Given the description of an element on the screen output the (x, y) to click on. 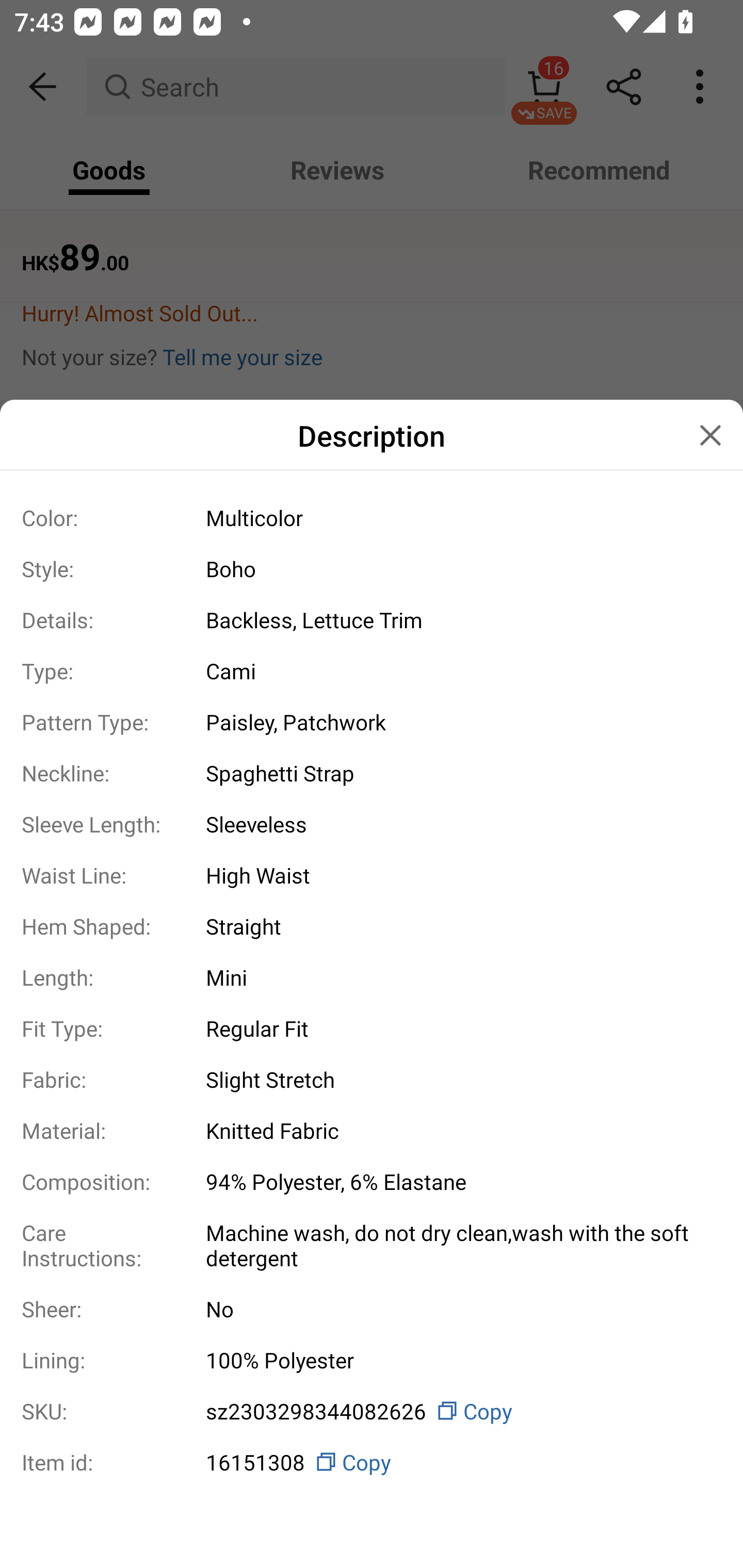
Close (710, 435)
Color: Multicolor (371, 517)
Multicolor (455, 517)
Style: Boho (371, 568)
Boho (455, 568)
Details: Backless, Lettuce Trim (371, 620)
Backless, Lettuce Trim (455, 620)
Type: Cami (371, 671)
Cami (455, 670)
Pattern Type: Paisley, Patchwork (371, 721)
Paisley, Patchwork (455, 721)
Neckline: Spaghetti Strap (371, 772)
Spaghetti Strap (455, 772)
Sleeve Length: Sleeveless (371, 823)
Sleeveless (455, 823)
Waist Line: High Waist (371, 874)
High Waist (455, 874)
Hem Shaped: Straight (371, 925)
Straight (455, 925)
Length: Mini (371, 976)
Mini (455, 977)
Fit Type: Regular Fit (371, 1027)
Regular Fit (455, 1027)
Fabric: Slight Stretch (371, 1079)
Slight Stretch (455, 1079)
Material: Knitted Fabric (371, 1130)
Knitted Fabric (455, 1130)
Composition: 94% Polyester, 6% Elastane (371, 1181)
94% Polyester, 6% Elastane (455, 1181)
Sheer: No (371, 1308)
No (455, 1308)
Lining: 100% Polyester (371, 1360)
100% Polyester (455, 1360)
SKU: sz2303298344082626    Copy (371, 1411)
sz2303298344082626    Copy (455, 1410)
Item id: 16151308    Copy (371, 1458)
16151308    Copy (455, 1462)
